Given the description of an element on the screen output the (x, y) to click on. 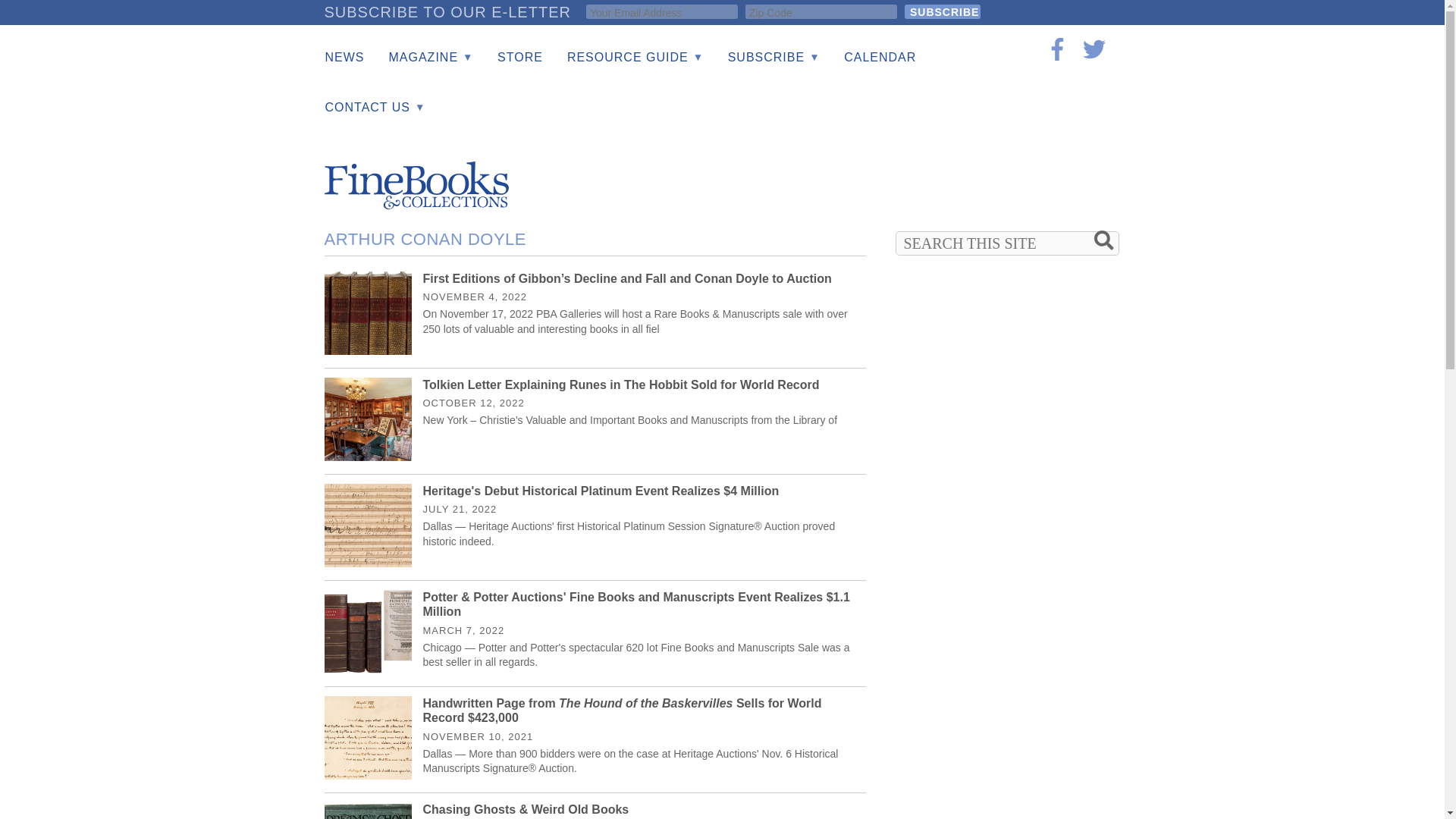
Subscribe (941, 11)
3rd party ad content (845, 174)
Subscribe (941, 11)
3rd party ad content (1008, 778)
NEWS (344, 57)
STORE (519, 57)
CALENDAR (879, 57)
